Given the description of an element on the screen output the (x, y) to click on. 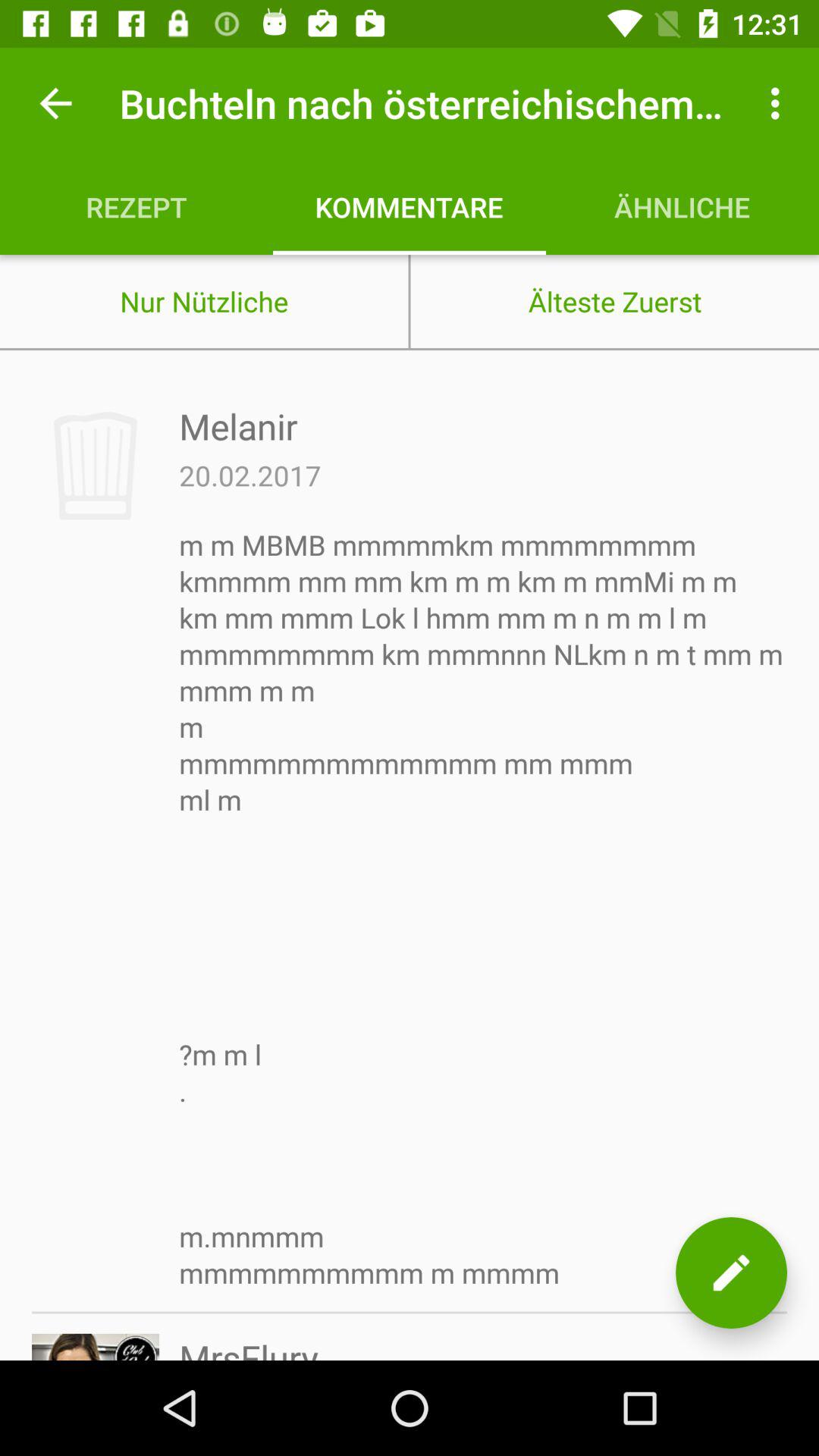
swipe until 20.02.2017 icon (250, 475)
